Given the description of an element on the screen output the (x, y) to click on. 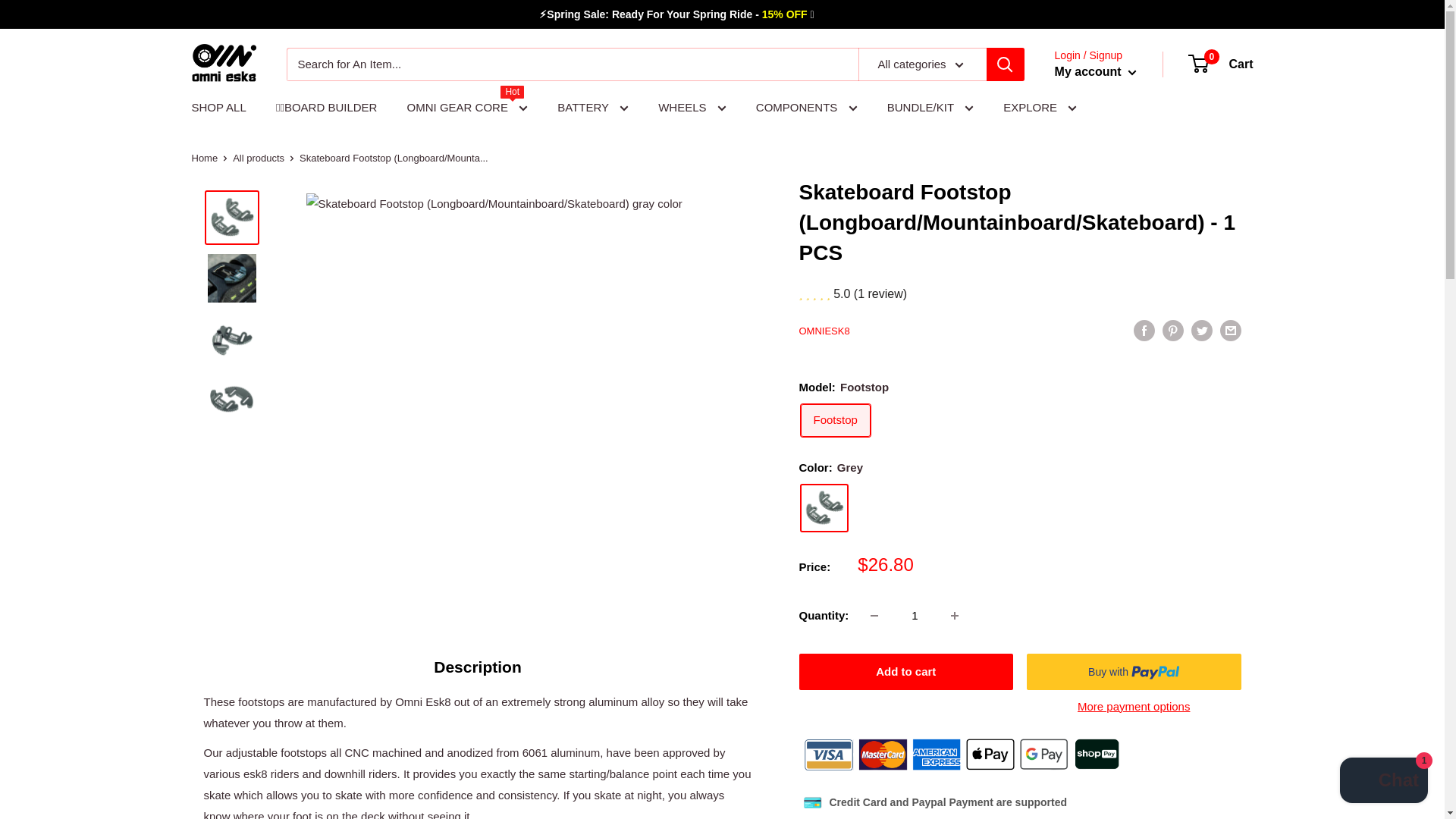
Footstop (835, 420)
1 (914, 615)
Grey (823, 508)
Increase quantity by 1 (955, 615)
Shopify online store chat (1383, 781)
Decrease quantity by 1 (874, 615)
